Given the description of an element on the screen output the (x, y) to click on. 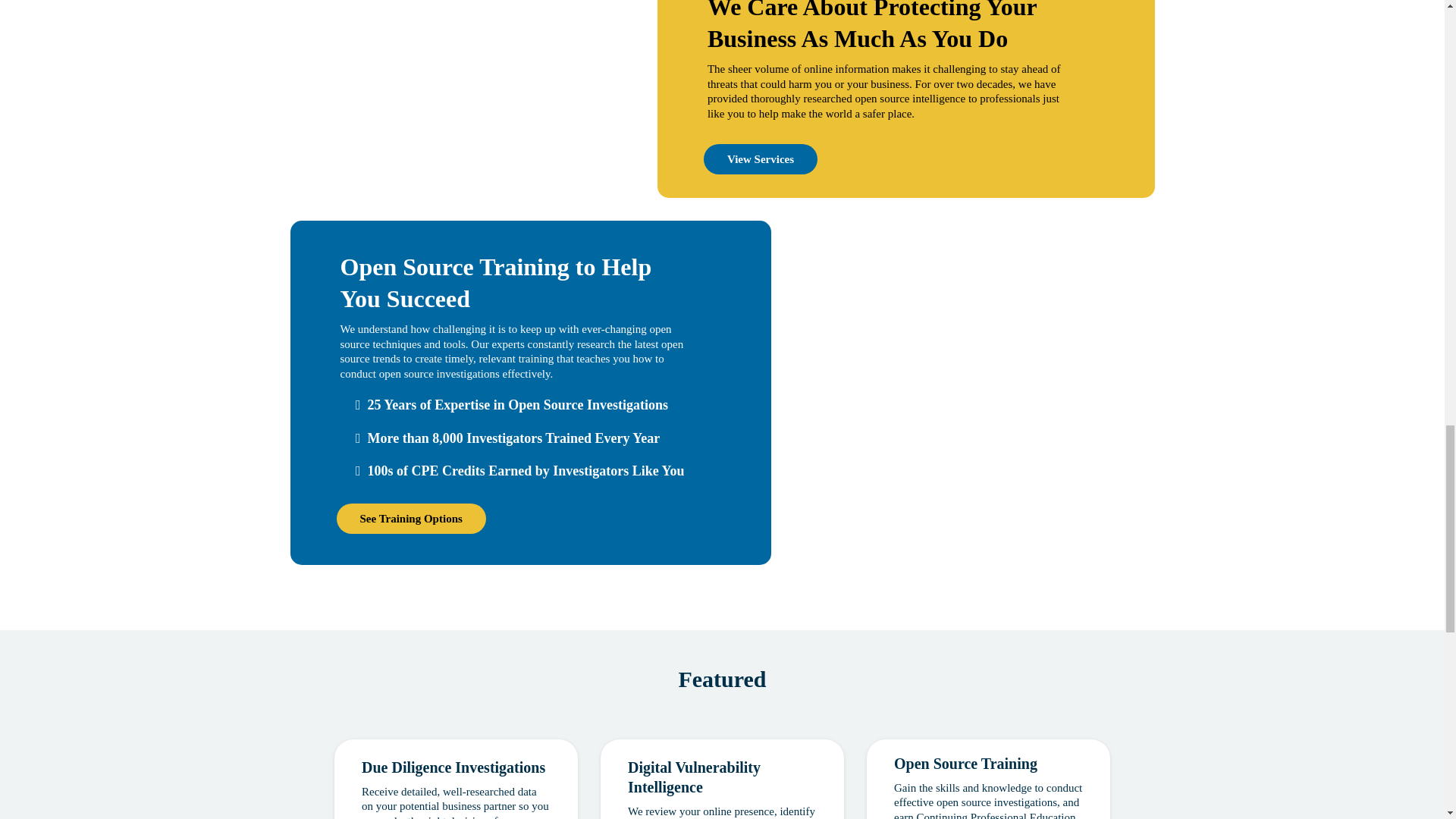
See Training Options (411, 518)
View Services (759, 159)
